Given the description of an element on the screen output the (x, y) to click on. 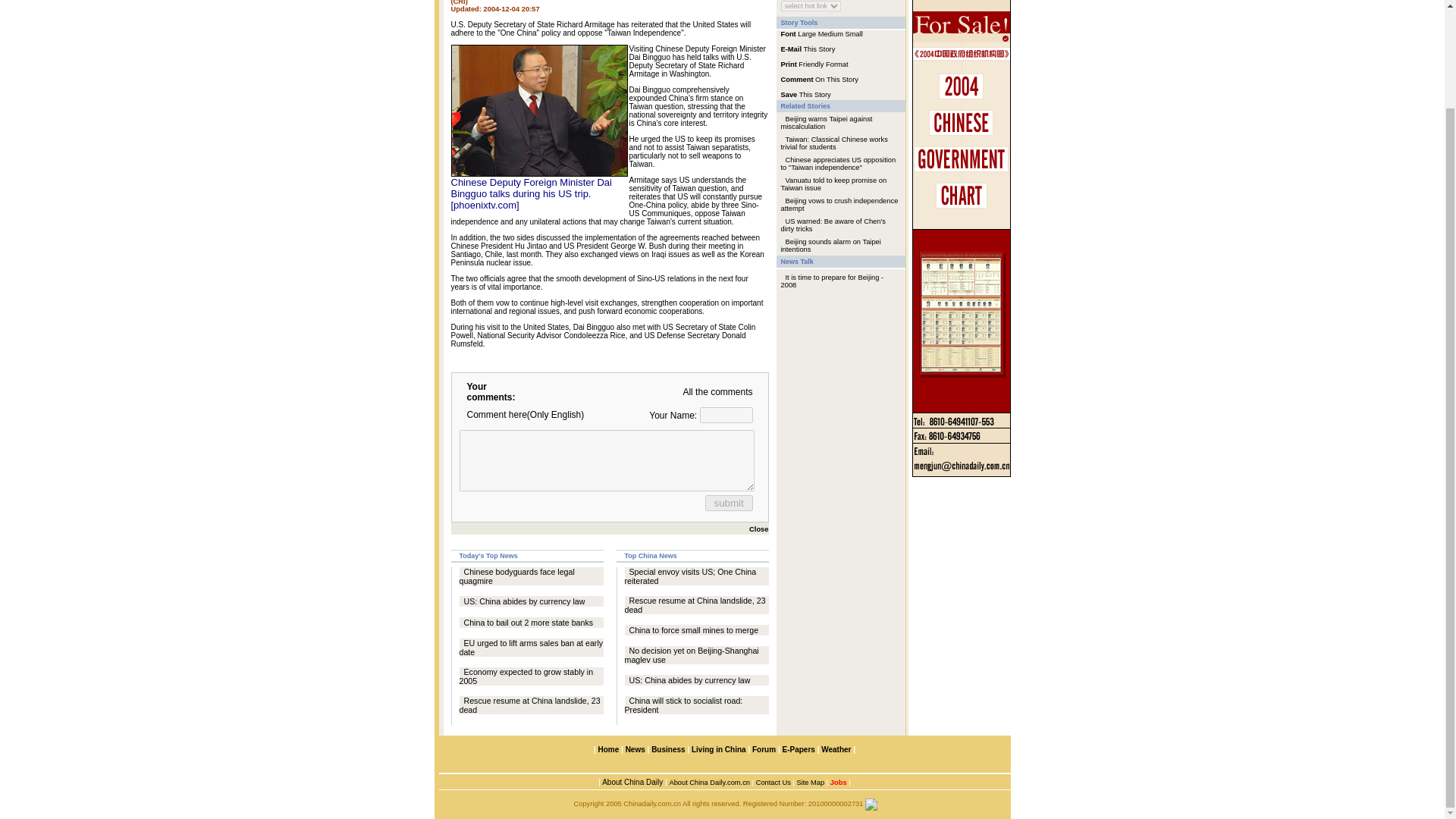
News (635, 749)
US: China abides by currency law (689, 679)
Rescue resume at China landslide, 23 dead (694, 605)
Small (854, 33)
Beijing sounds alarm on Taipei intentions (830, 245)
US: China abides by currency law (524, 601)
Special envoy visits US; One China reiterated (690, 576)
Save This Story (805, 93)
E-Papers (797, 749)
Close (753, 528)
